Given the description of an element on the screen output the (x, y) to click on. 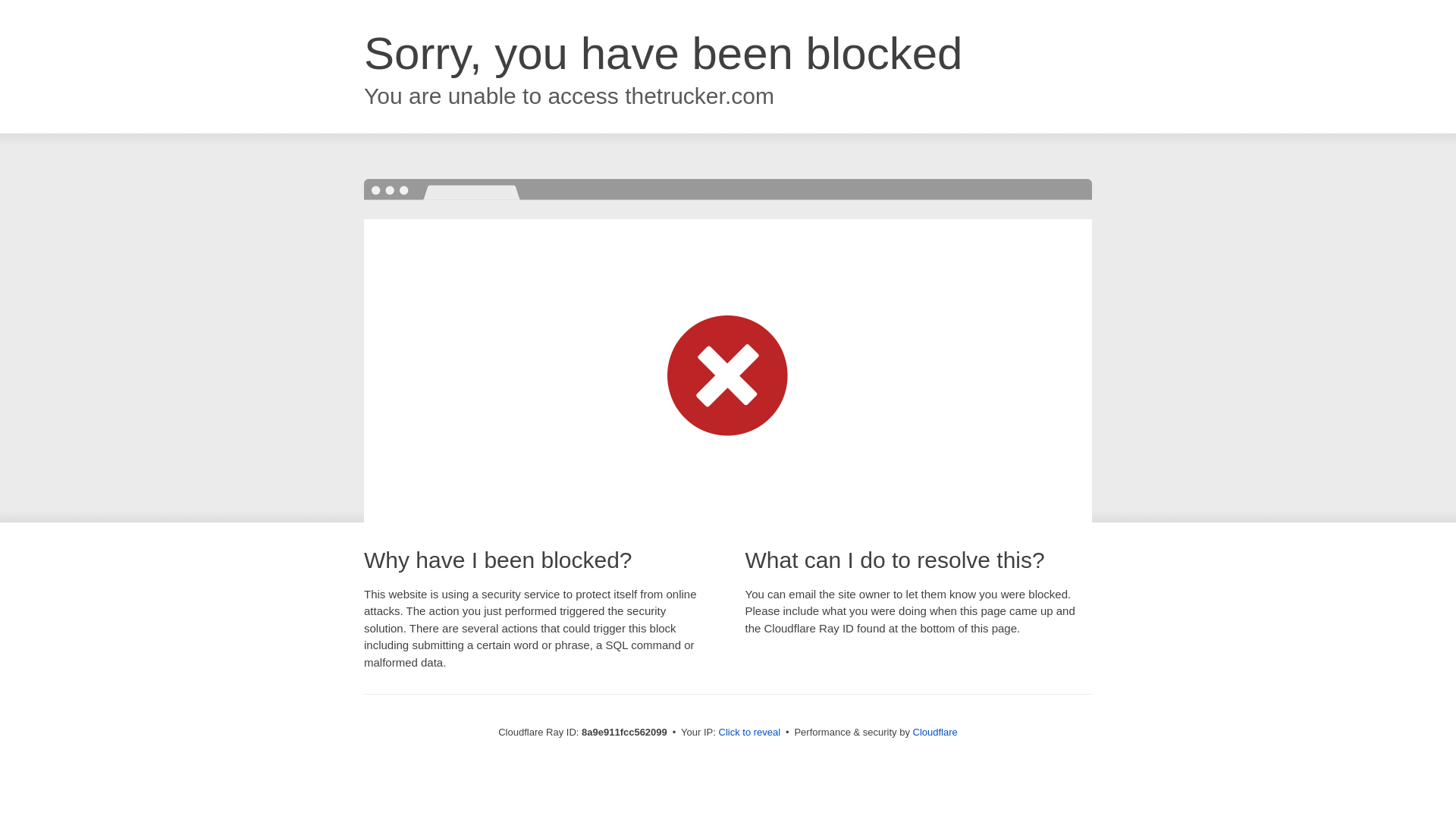
Click to reveal (749, 732)
Cloudflare (935, 731)
